Given the description of an element on the screen output the (x, y) to click on. 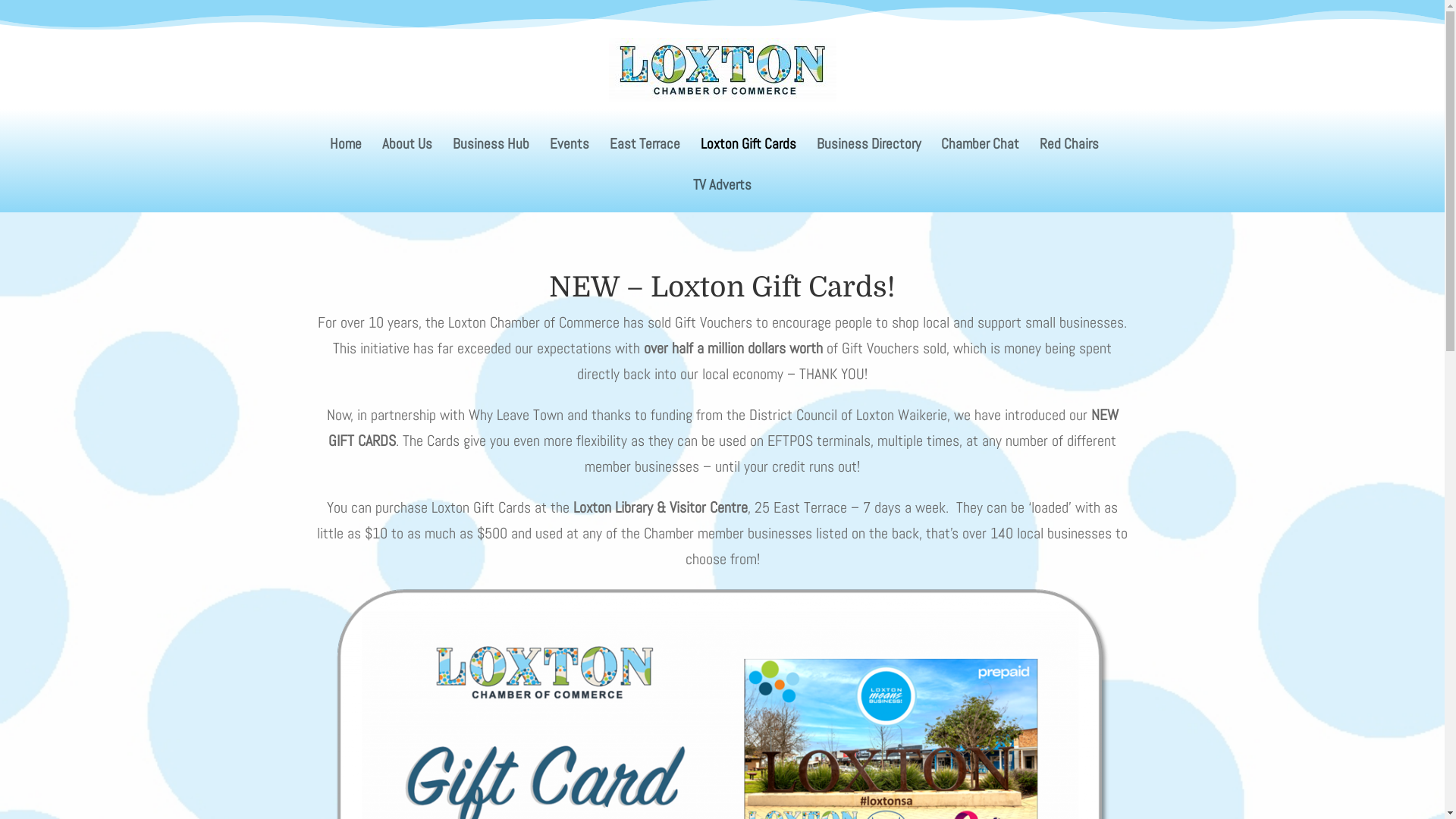
About Us Element type: text (407, 154)
Red Chairs Element type: text (1068, 154)
East Terrace Element type: text (644, 154)
Business Hub Element type: text (489, 154)
Events Element type: text (568, 154)
Loxton Gift Cards Element type: text (748, 154)
Home Element type: text (344, 154)
Business Directory Element type: text (867, 154)
TV Adverts Element type: text (722, 195)
Chamber Chat Element type: text (979, 154)
